Given the description of an element on the screen output the (x, y) to click on. 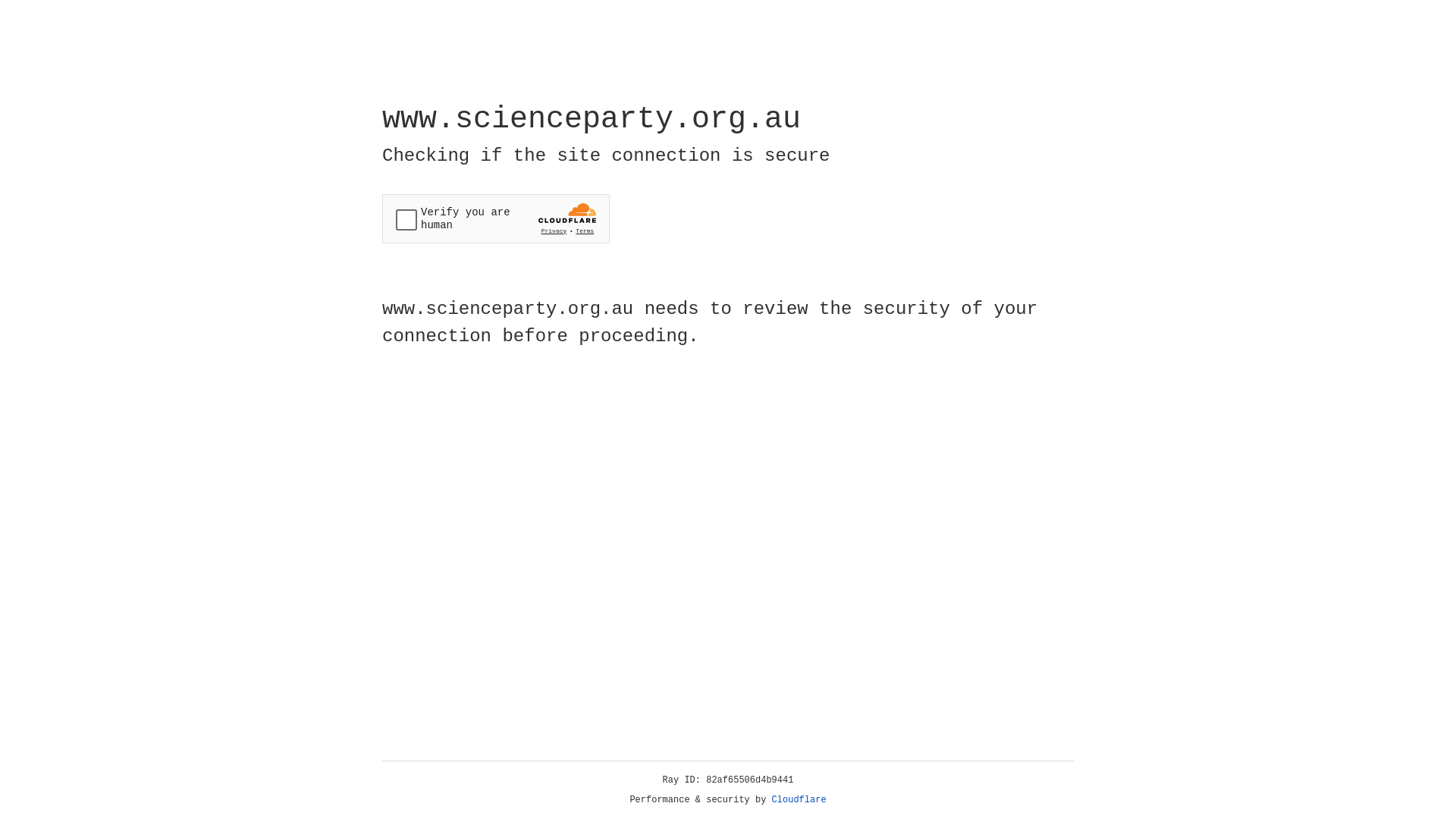
Widget containing a Cloudflare security challenge Element type: hover (495, 218)
Cloudflare Element type: text (798, 799)
